Given the description of an element on the screen output the (x, y) to click on. 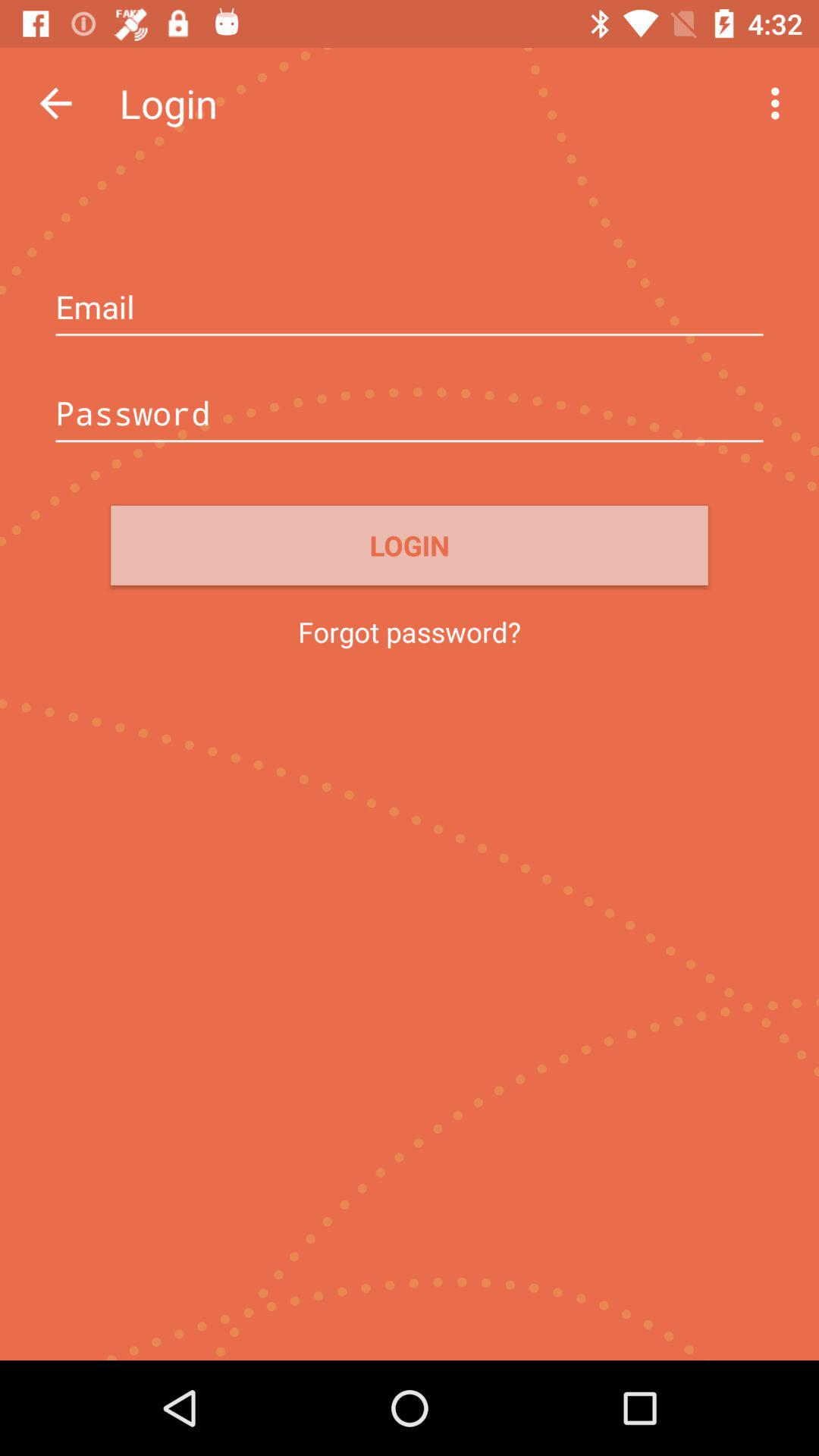
type your password (409, 415)
